Given the description of an element on the screen output the (x, y) to click on. 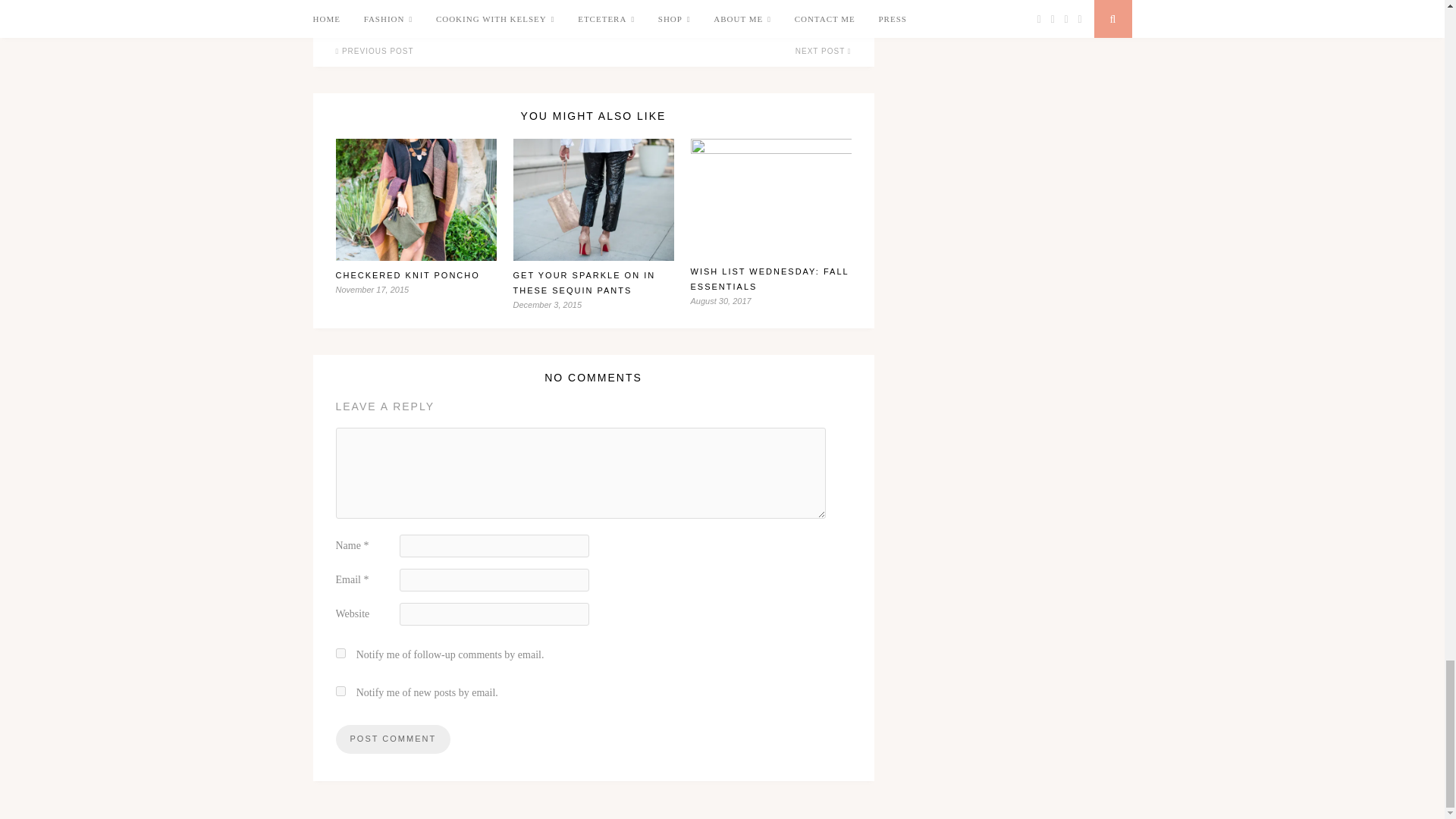
subscribe (339, 691)
Post Comment (391, 738)
subscribe (339, 653)
